Given the description of an element on the screen output the (x, y) to click on. 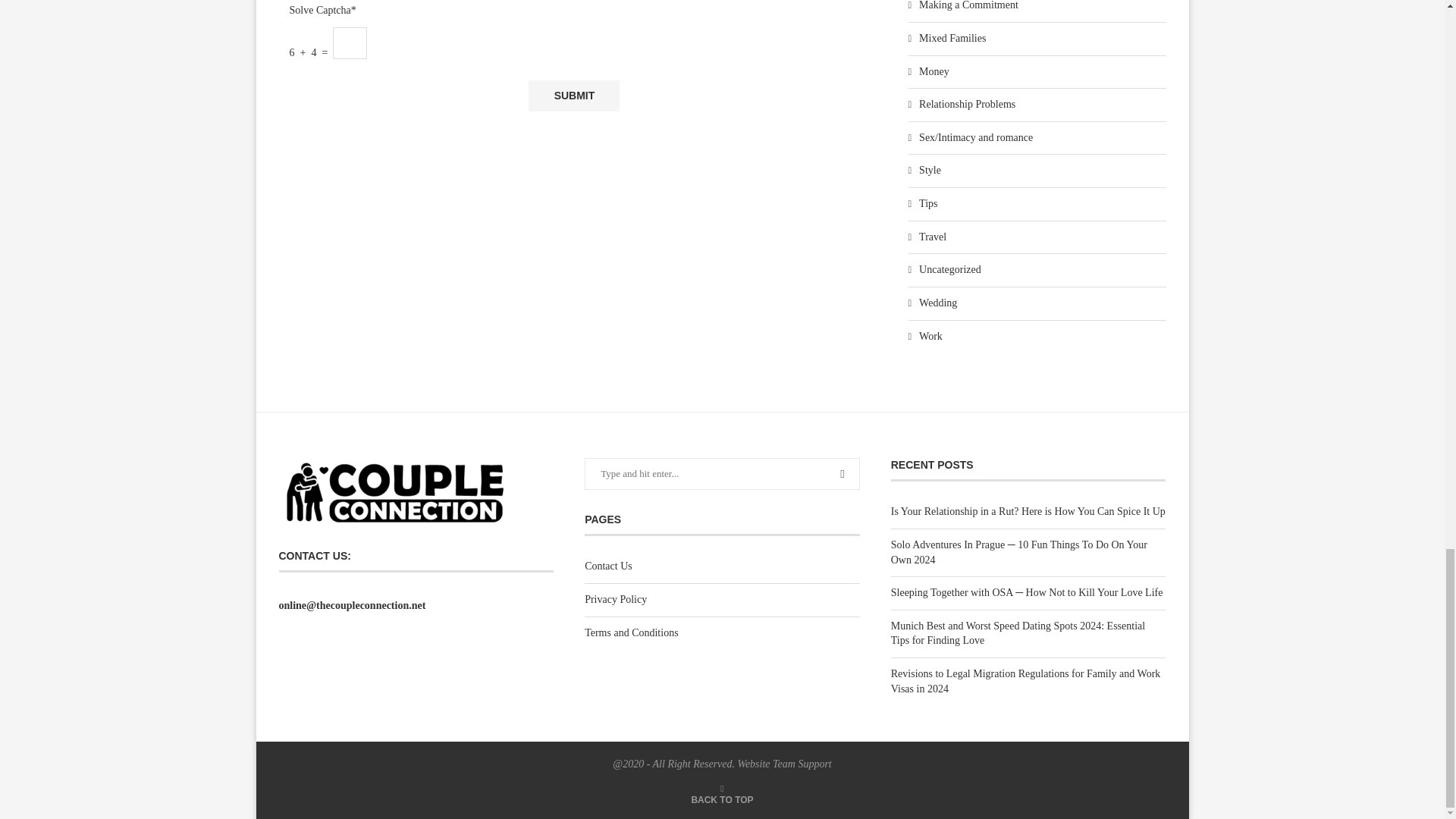
Submit (574, 95)
